Given the description of an element on the screen output the (x, y) to click on. 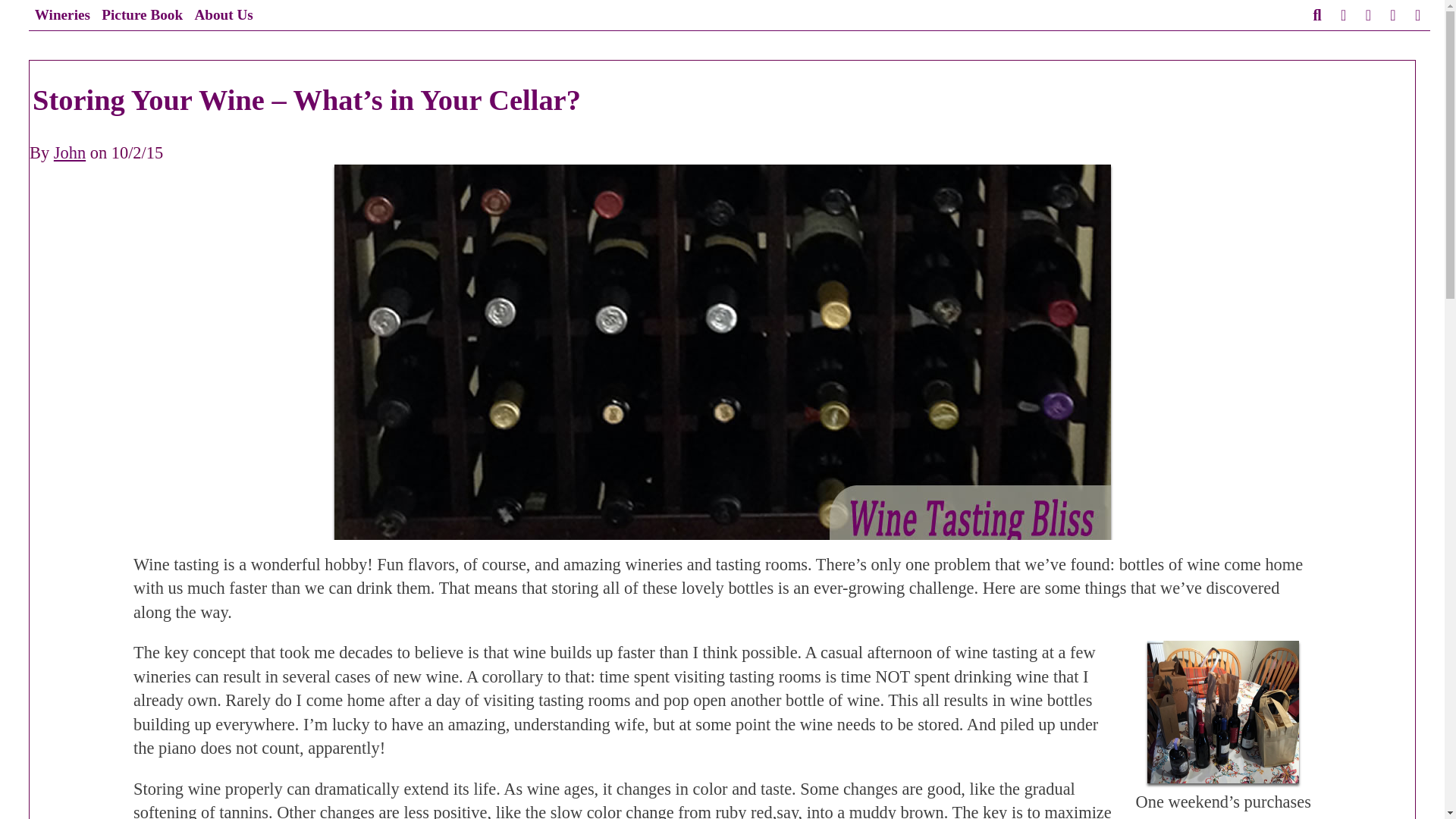
Search (1316, 15)
Wineries (62, 15)
About Us (224, 15)
Picture Book (142, 15)
John (69, 152)
